Given the description of an element on the screen output the (x, y) to click on. 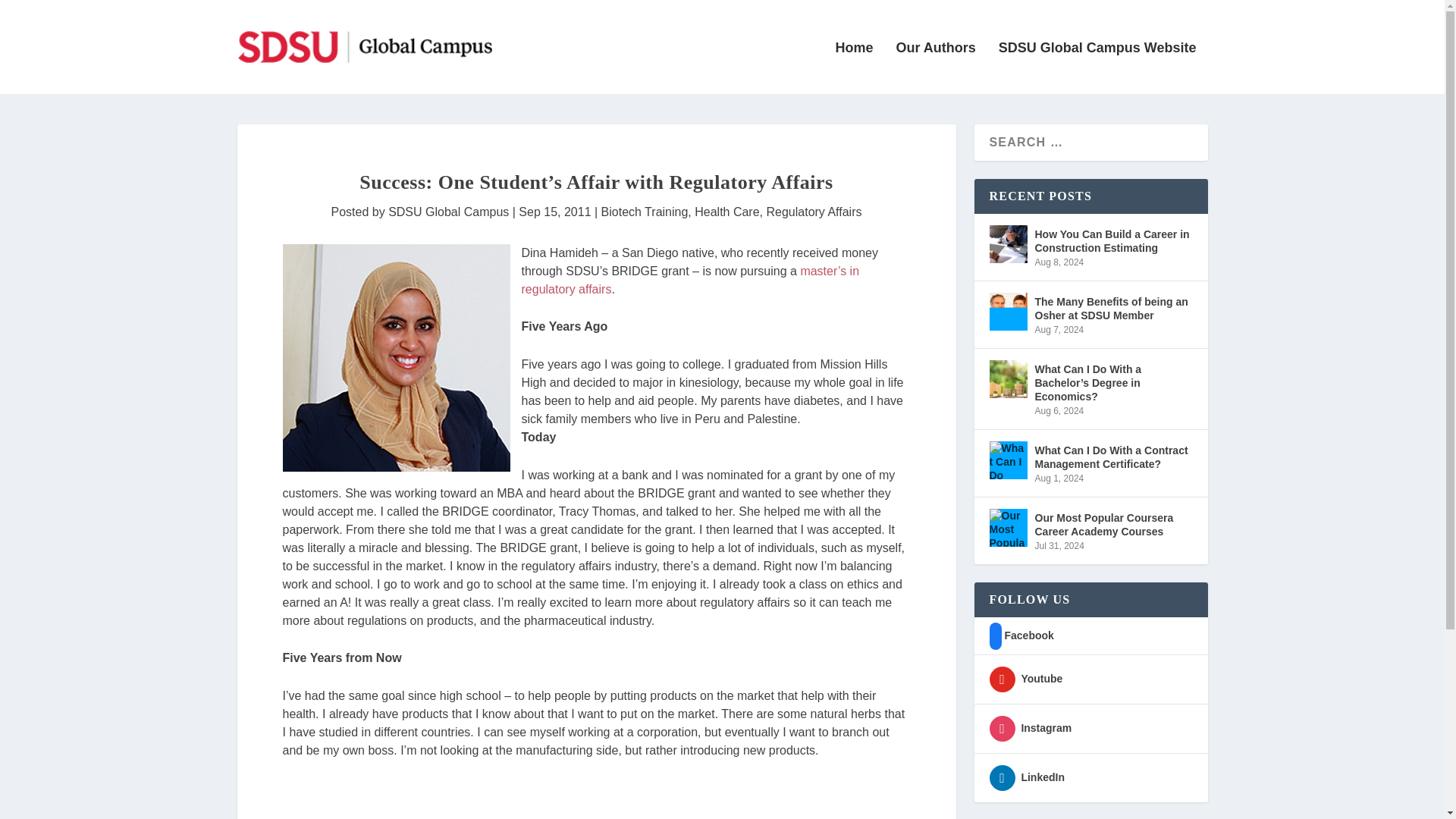
Instagram (1029, 727)
Health Care (726, 211)
Regulatory Affairs (813, 211)
SDSU Global Campus Website (1097, 67)
What Can I Do With a Contract Management Certificate? (1112, 457)
Facebook (1020, 635)
Biotech Training (644, 211)
Posts by SDSU Global Campus (448, 211)
SDSU Global Campus (448, 211)
Our Authors (935, 67)
